Given the description of an element on the screen output the (x, y) to click on. 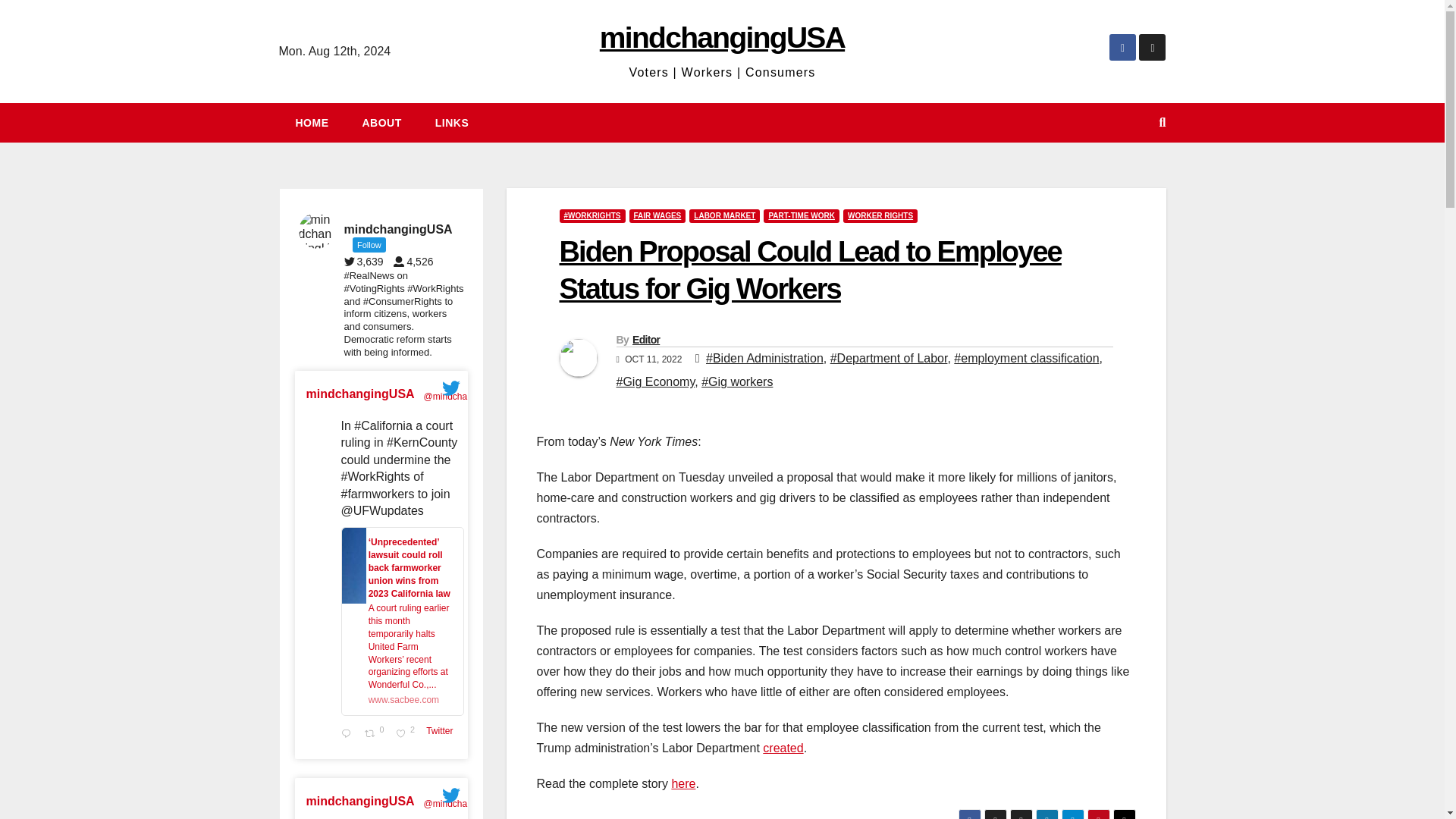
ABOUT (382, 122)
mindchangingUSA (359, 801)
mindchangingUSA (721, 37)
3,639 Tweets (367, 261)
HOME (312, 122)
LINKS (452, 122)
Reply on Twitter 1818035629563002884 (348, 734)
mindchangingUSA (407, 734)
